Given the description of an element on the screen output the (x, y) to click on. 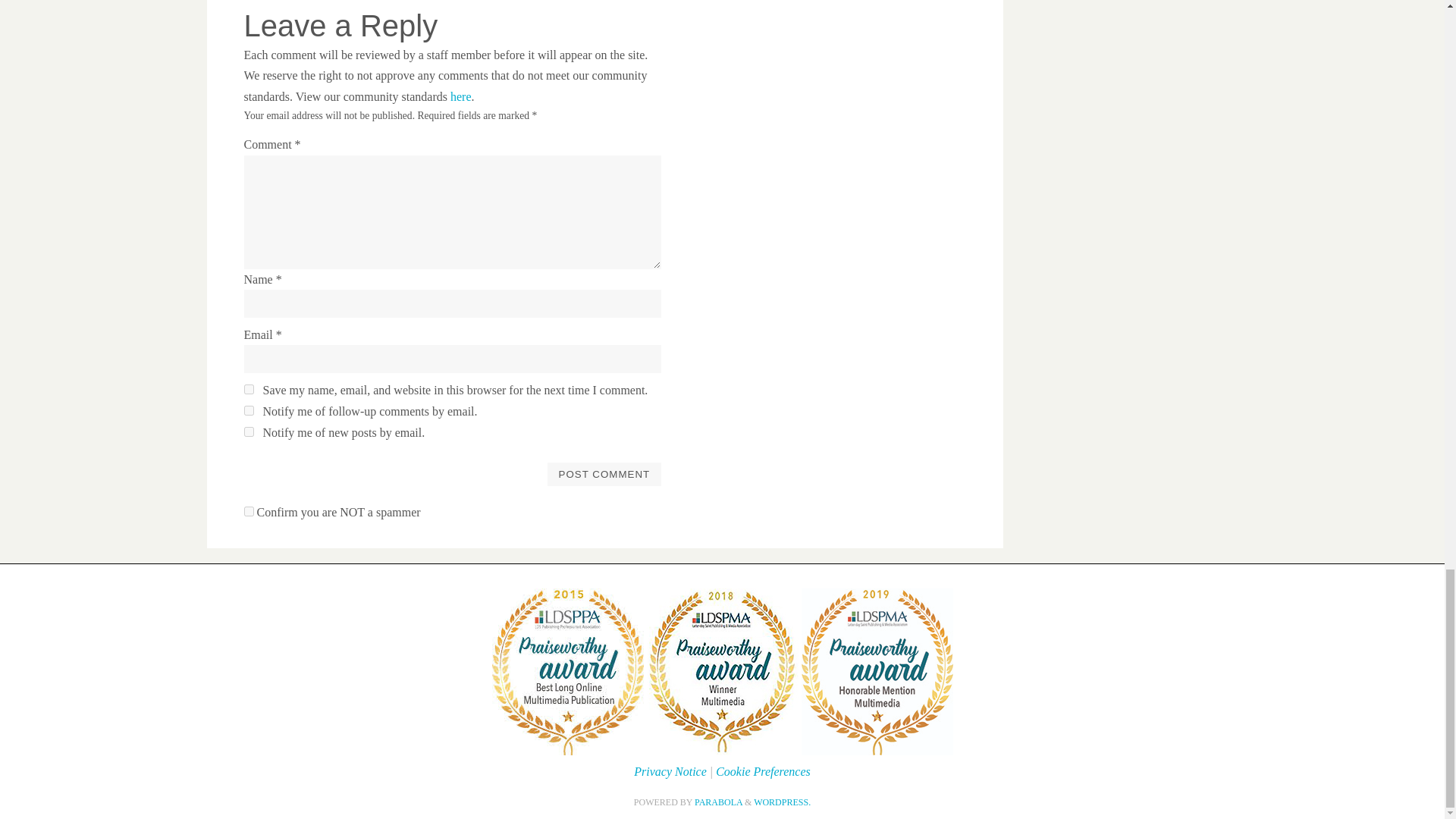
Post Comment (604, 473)
subscribe (248, 410)
yes (248, 388)
subscribe (248, 431)
on (248, 511)
